Given the description of an element on the screen output the (x, y) to click on. 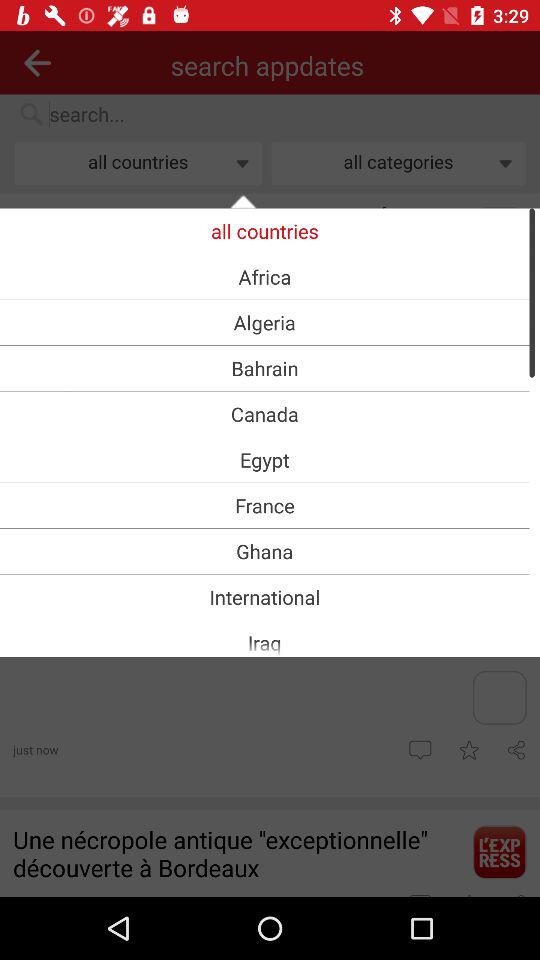
select item above africa item (264, 230)
